Given the description of an element on the screen output the (x, y) to click on. 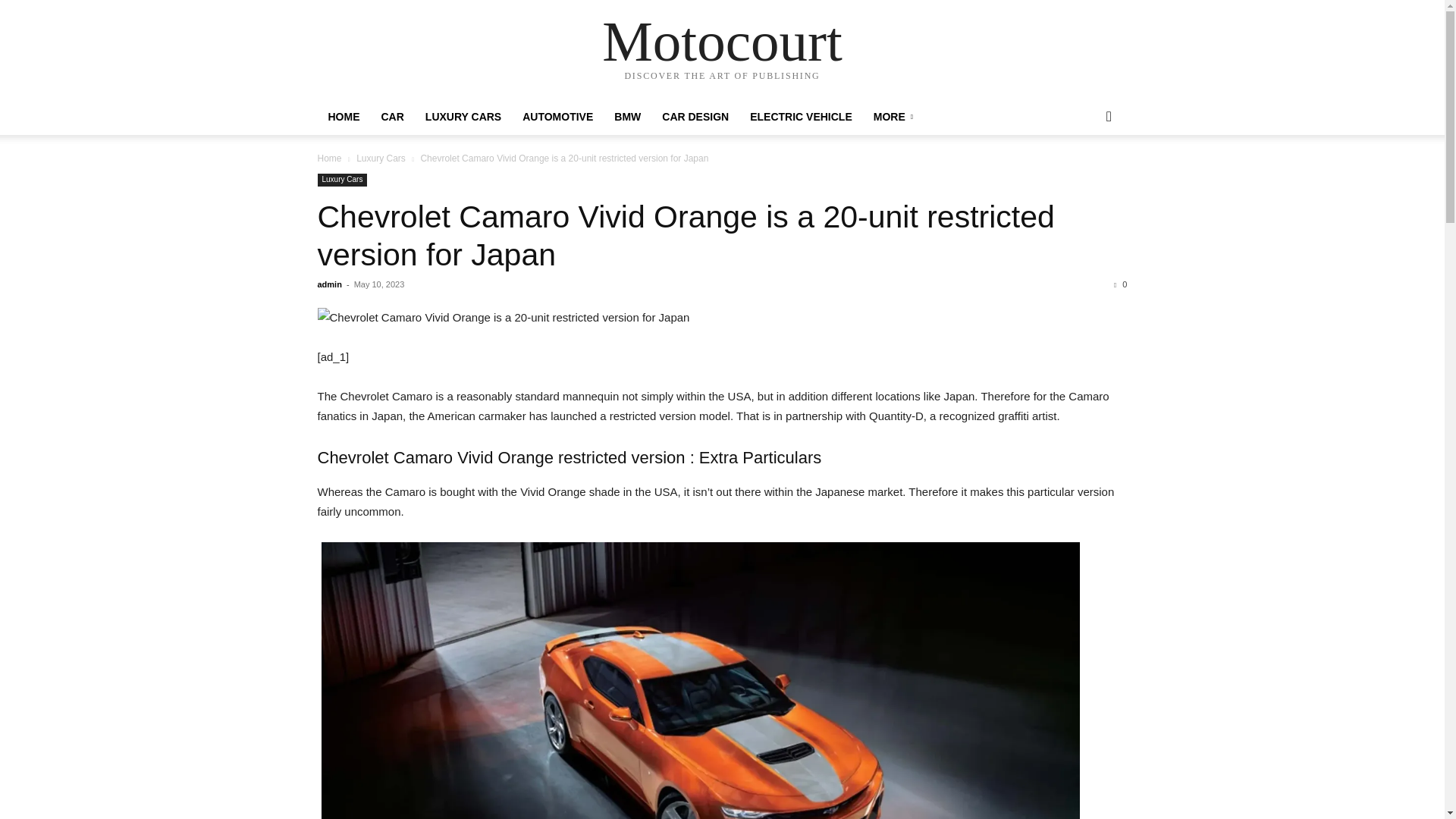
admin (328, 284)
AUTOMOTIVE (558, 116)
Luxury Cars (381, 158)
HOME (343, 116)
View all posts in Luxury Cars (381, 158)
CAR DESIGN (694, 116)
MORE (893, 116)
ELECTRIC VEHICLE (801, 116)
